Given the description of an element on the screen output the (x, y) to click on. 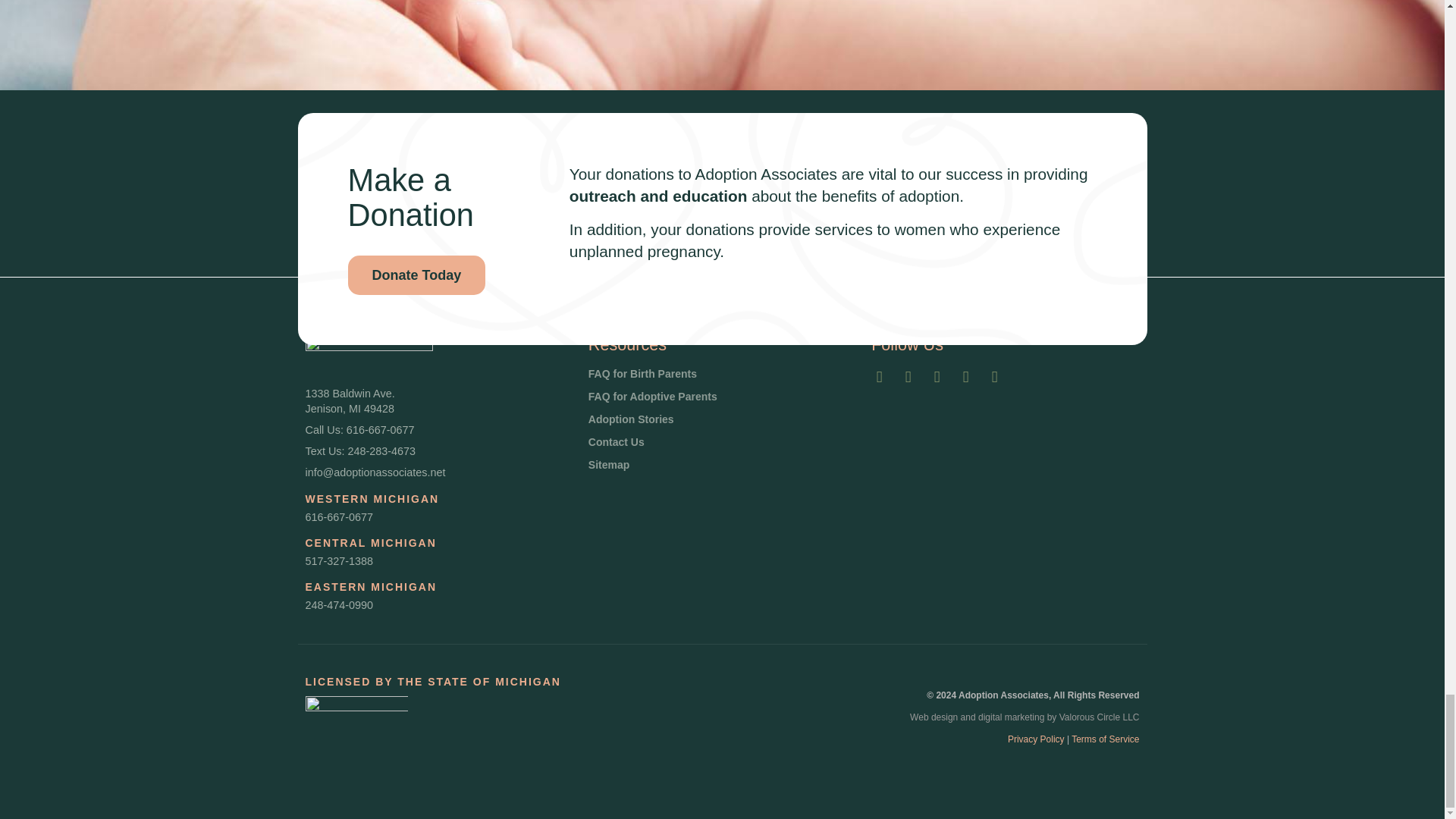
Grand Rapids Web Design (934, 716)
Grand Rapids Website Design (1099, 716)
Proven Successful Online Marketing (1010, 716)
